Given the description of an element on the screen output the (x, y) to click on. 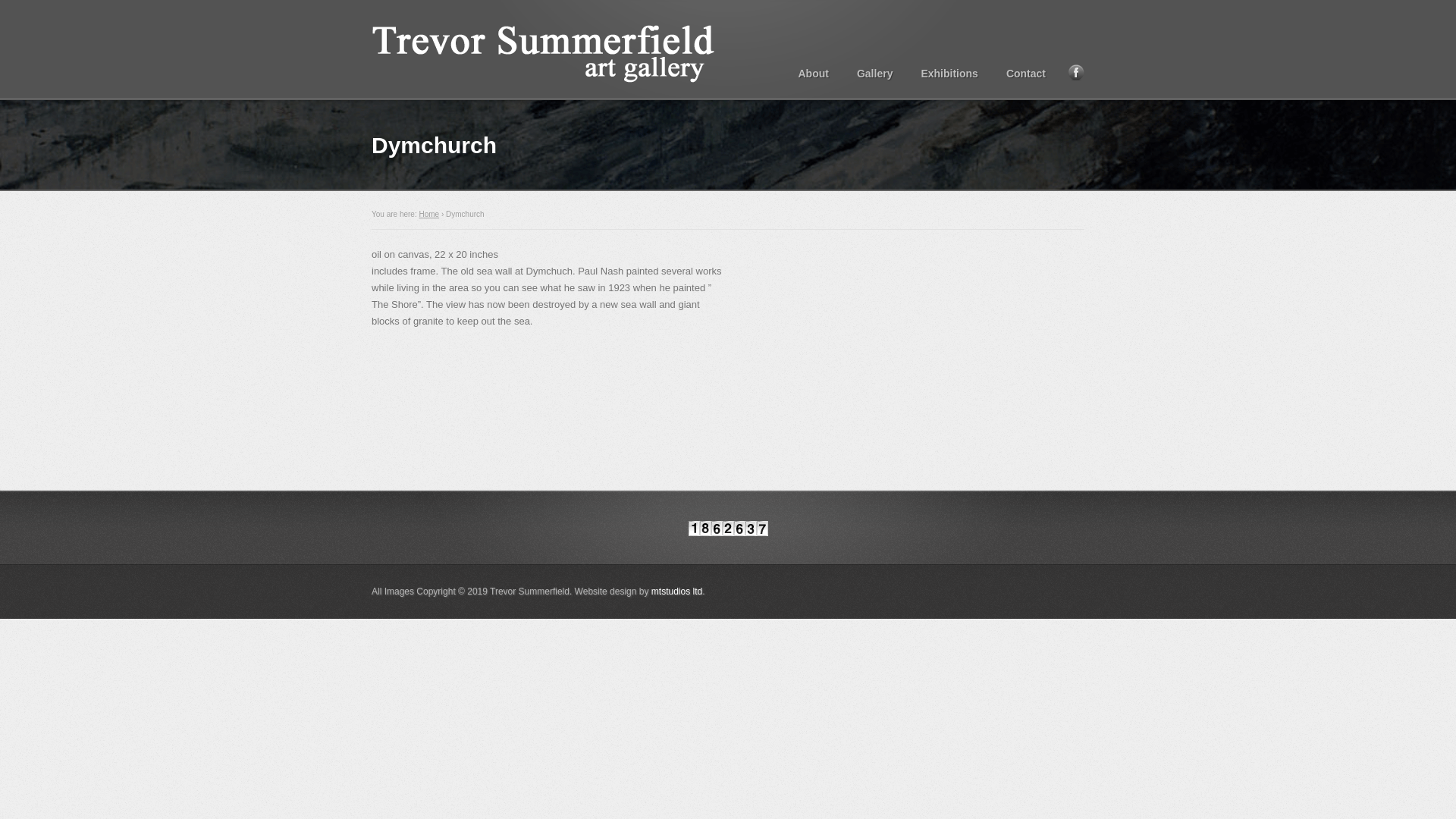
Facebook (1076, 72)
Exhibitions (949, 73)
Contact (1026, 73)
Facebook Icon (1076, 72)
mtstudios ltd (675, 591)
Home (429, 213)
Trevor Summerfield (558, 48)
About (813, 73)
Gallery (874, 73)
